Given the description of an element on the screen output the (x, y) to click on. 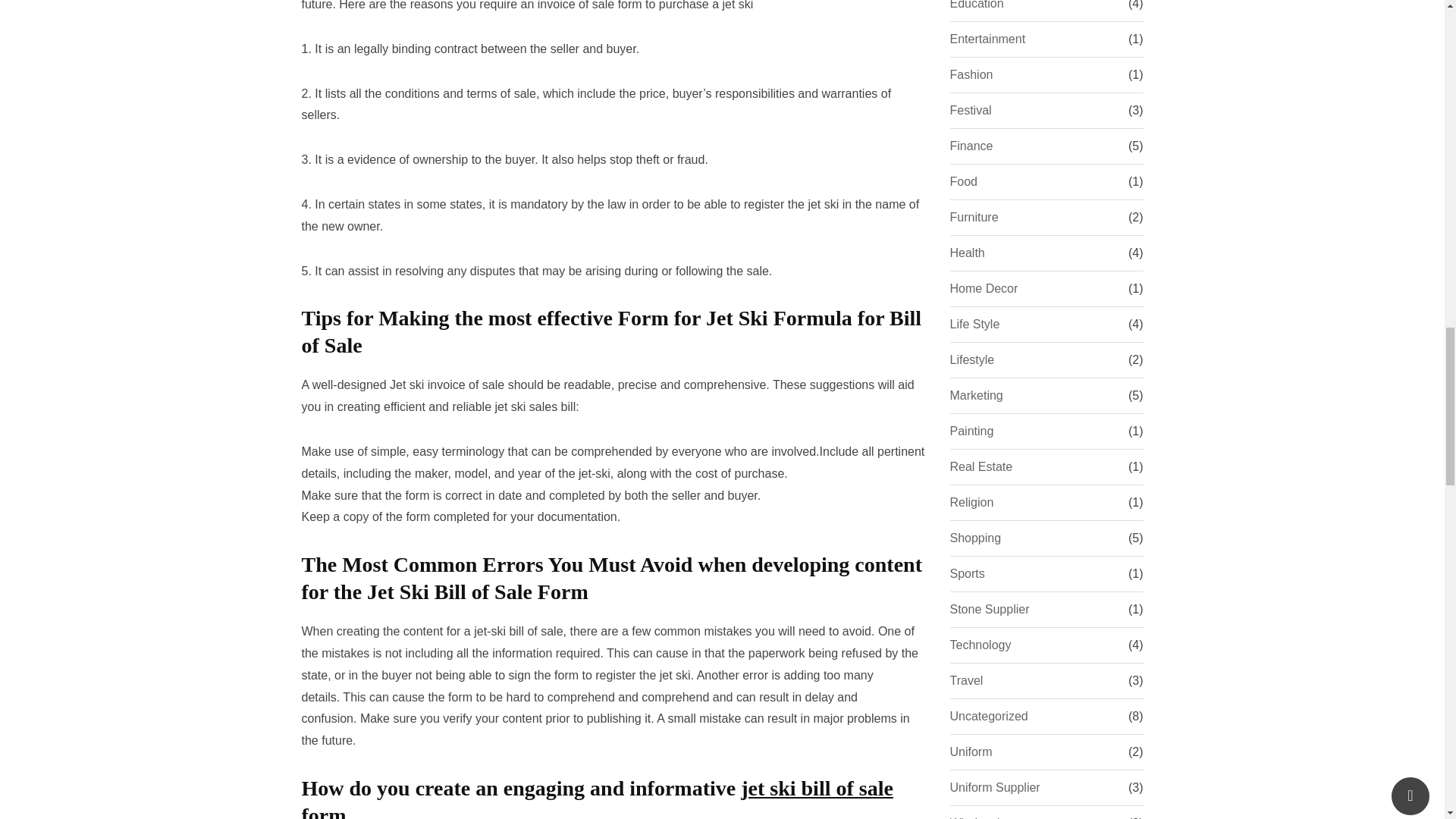
jet ski bill of sale form (597, 797)
